Given the description of an element on the screen output the (x, y) to click on. 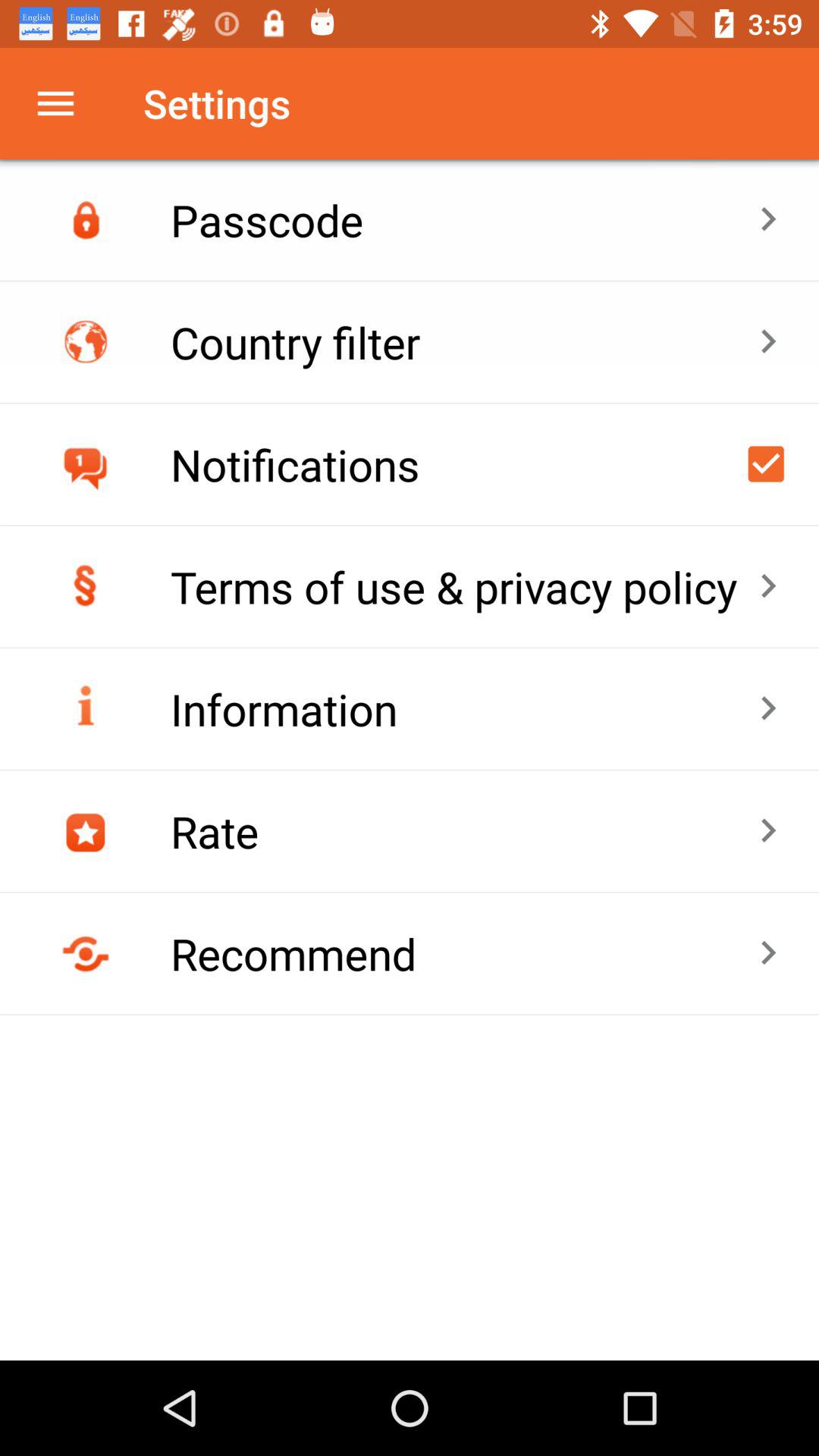
launch the icon below settings item (464, 219)
